Given the description of an element on the screen output the (x, y) to click on. 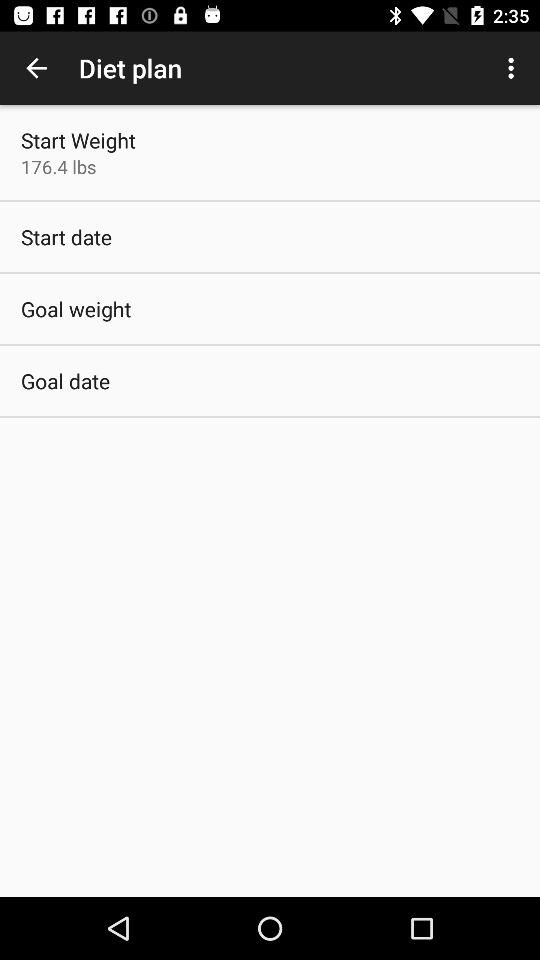
swipe to the goal date (65, 380)
